Given the description of an element on the screen output the (x, y) to click on. 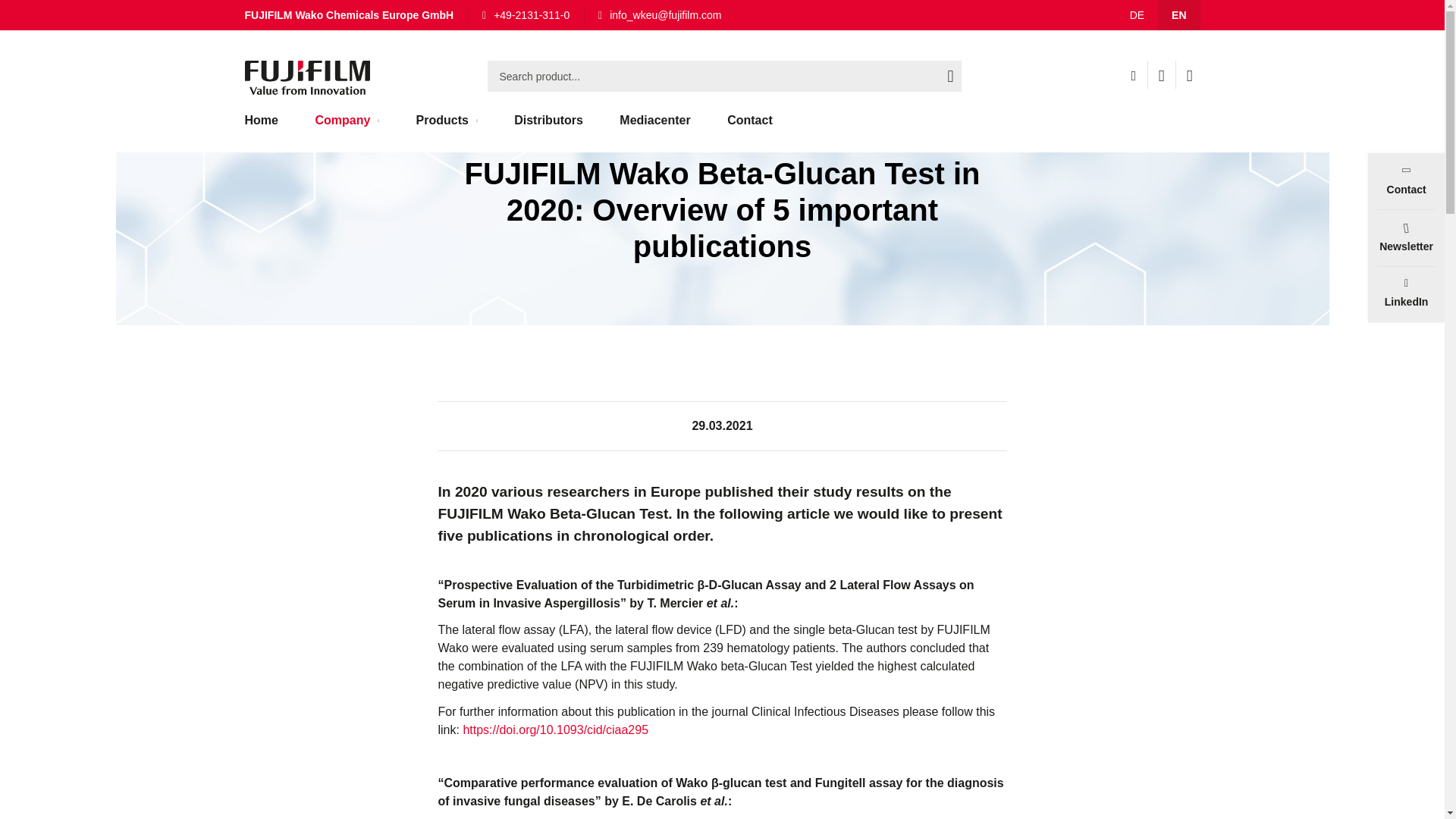
FUJIFILM Wako Chemicals Europe GmbH - Switch to homepage (306, 77)
Mediacenter (654, 127)
Company (328, 17)
Home (269, 127)
Distributors (548, 127)
DE (1136, 15)
Mediacenter (654, 127)
EN (1178, 15)
Products (446, 127)
Company (347, 127)
Home (261, 17)
Contact (749, 127)
Home (269, 127)
Distributors (548, 127)
Products (446, 127)
